Given the description of an element on the screen output the (x, y) to click on. 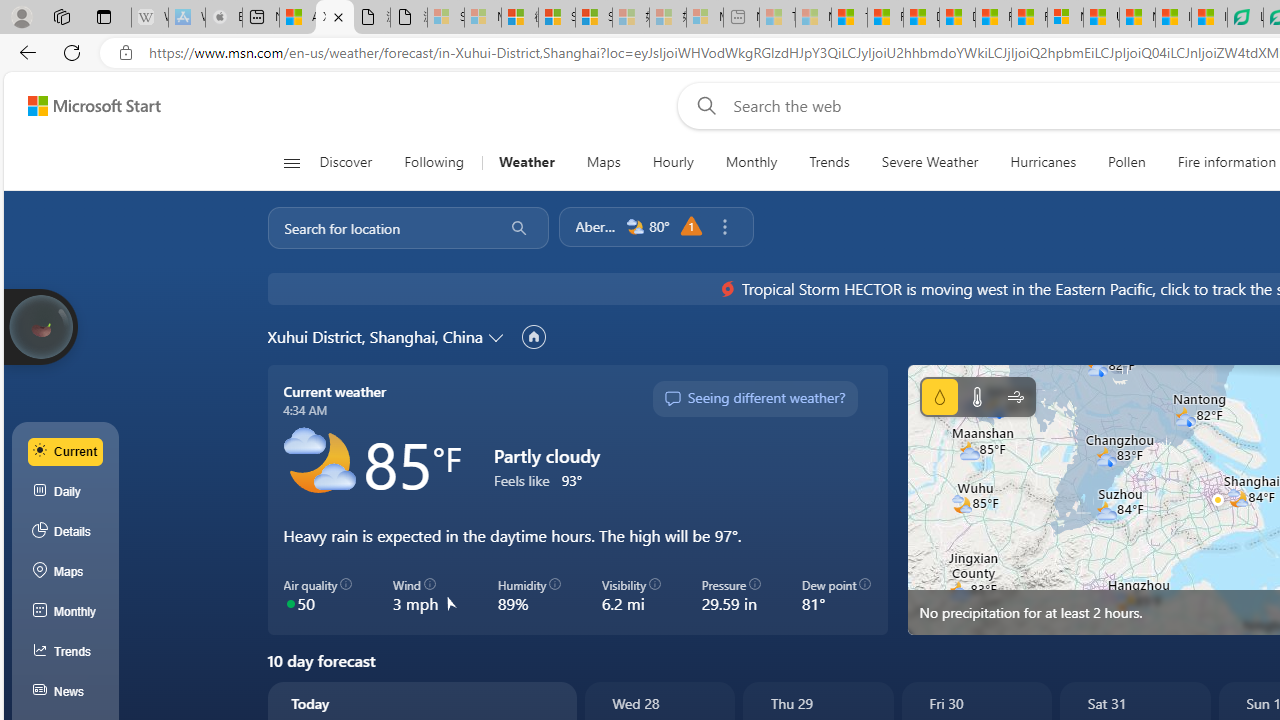
Open navigation menu (291, 162)
Severe Weather (929, 162)
Trends (828, 162)
Weather (526, 162)
Trends (65, 651)
Set as primary location (533, 336)
Visibility 6.2 mi (630, 595)
Change location (497, 336)
US Heat Deaths Soared To Record High Last Year (1101, 17)
Wind 3 mph (424, 595)
Details (65, 531)
